Given the description of an element on the screen output the (x, y) to click on. 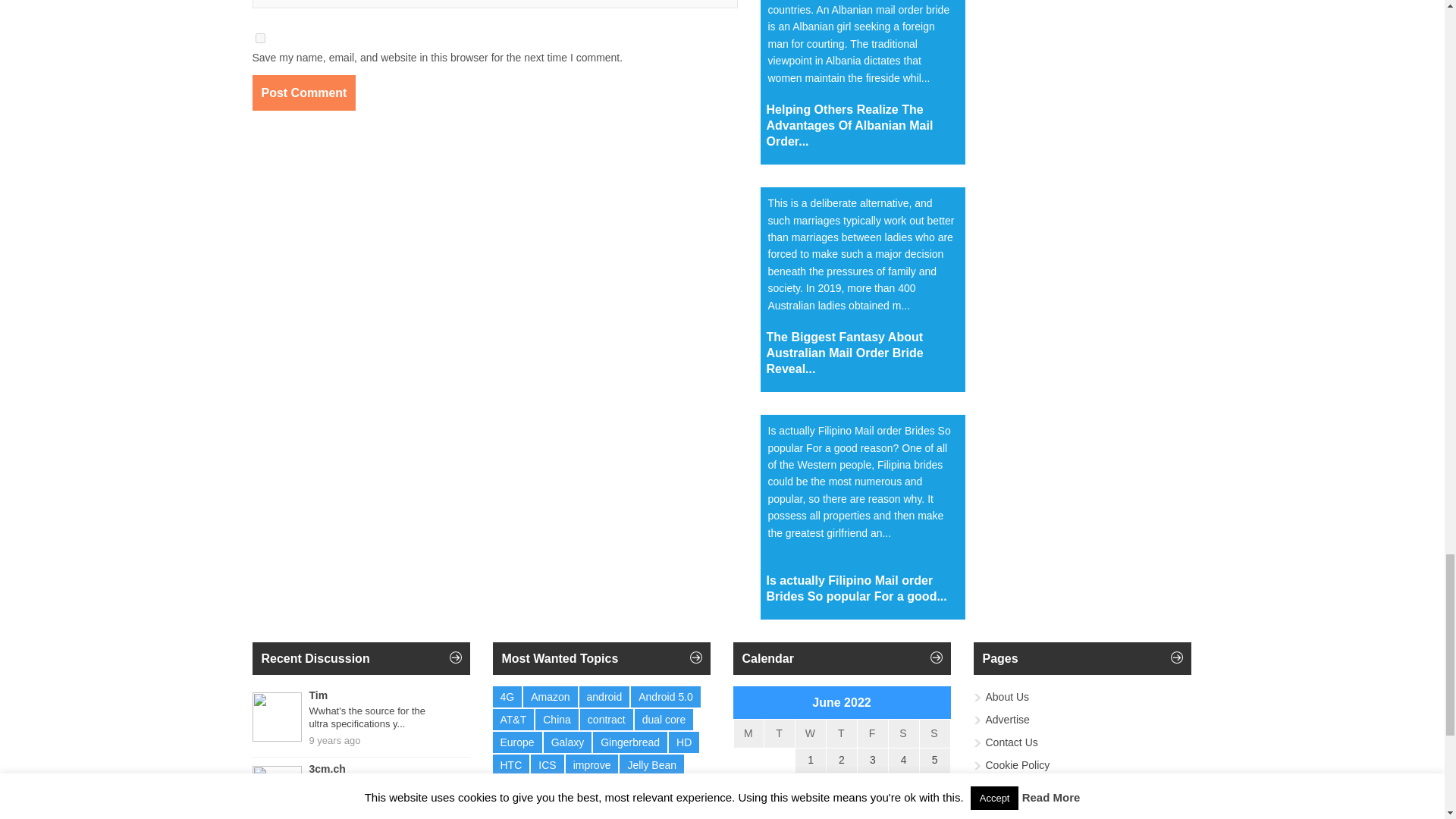
Post Comment (303, 92)
yes (259, 38)
